Given the description of an element on the screen output the (x, y) to click on. 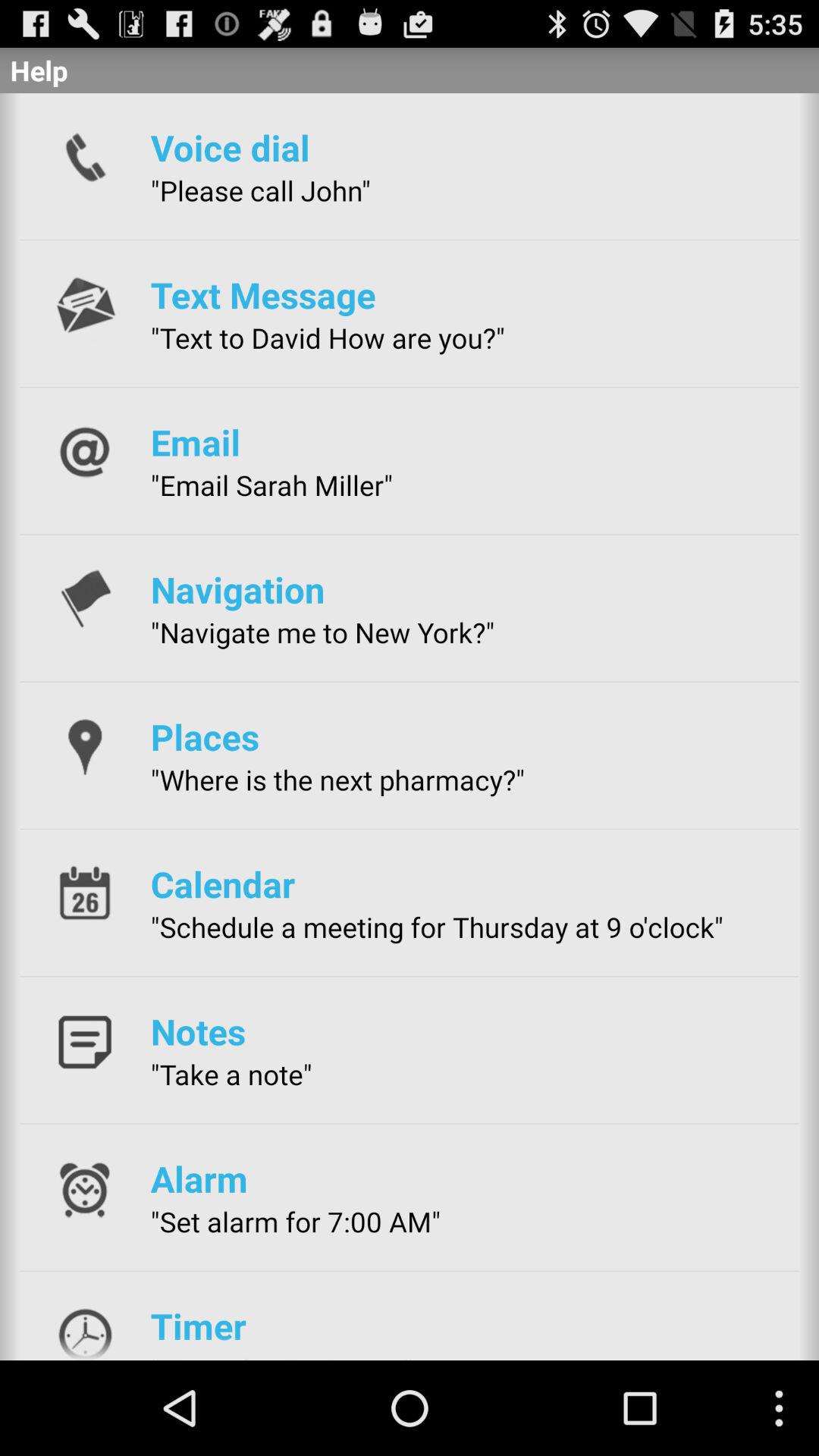
choose the icon above the email (327, 337)
